Given the description of an element on the screen output the (x, y) to click on. 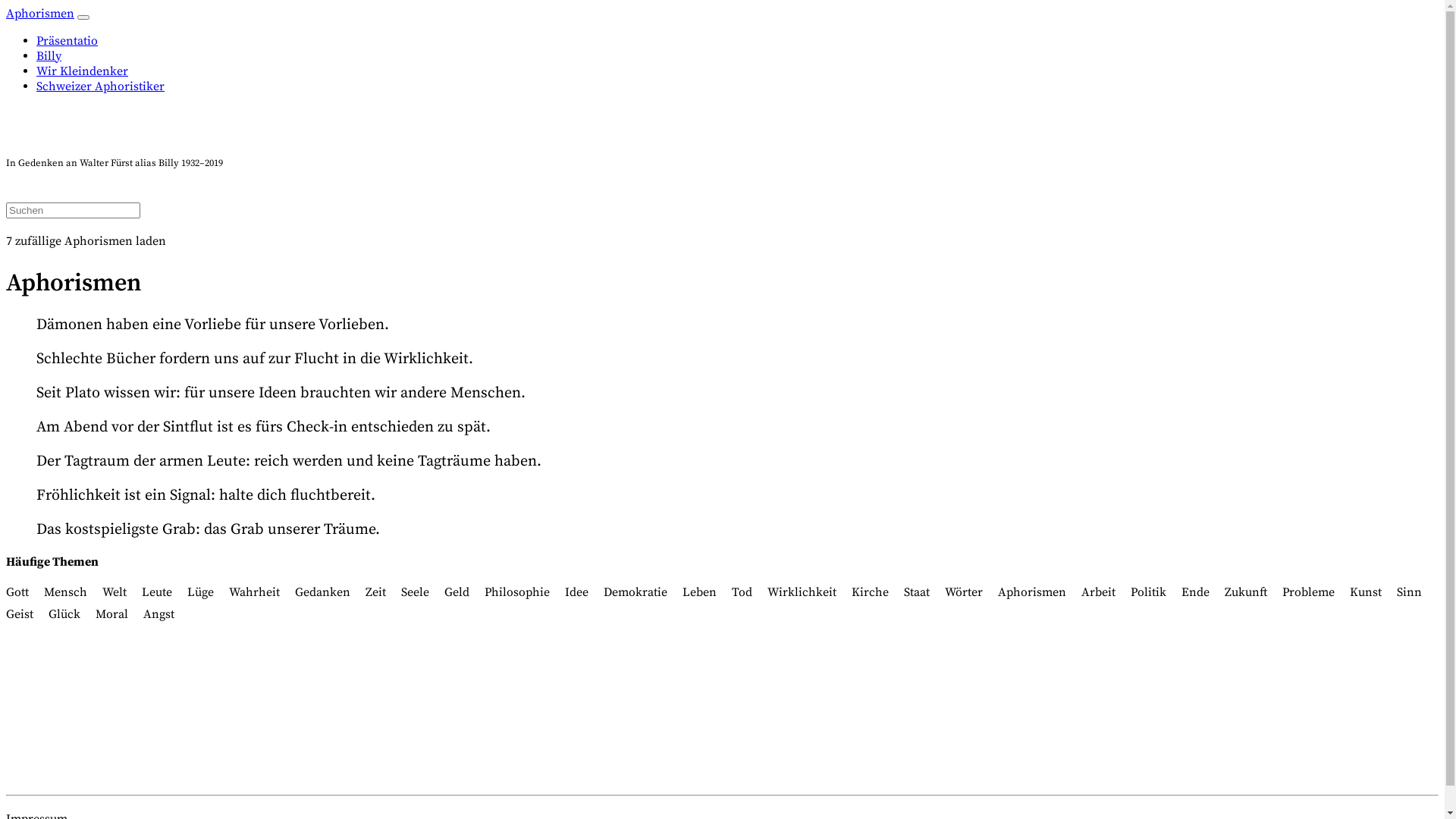
Zukunft Element type: text (1245, 591)
Tod Element type: text (741, 591)
Geist Element type: text (19, 613)
Gott Element type: text (17, 591)
Schweizer Aphoristiker Element type: text (100, 86)
Wirklichkeit Element type: text (801, 591)
Kunst Element type: text (1365, 591)
Staat Element type: text (916, 591)
Wahrheit Element type: text (254, 591)
Kirche Element type: text (869, 591)
Moral Element type: text (111, 613)
Geld Element type: text (456, 591)
Aphorismen Element type: text (1031, 591)
Angst Element type: text (158, 613)
Zeit Element type: text (375, 591)
Aphorismen Element type: text (40, 13)
Idee Element type: text (576, 591)
Ende Element type: text (1195, 591)
Gedanken Element type: text (322, 591)
Demokratie Element type: text (635, 591)
Welt Element type: text (114, 591)
Mensch Element type: text (65, 591)
Wir Kleindenker Element type: text (82, 70)
Leute Element type: text (156, 591)
Billy Element type: text (48, 55)
Probleme Element type: text (1308, 591)
Seele Element type: text (415, 591)
Sinn Element type: text (1408, 591)
Leben Element type: text (699, 591)
Politik Element type: text (1148, 591)
Arbeit Element type: text (1098, 591)
Philosophie Element type: text (516, 591)
